Given the description of an element on the screen output the (x, y) to click on. 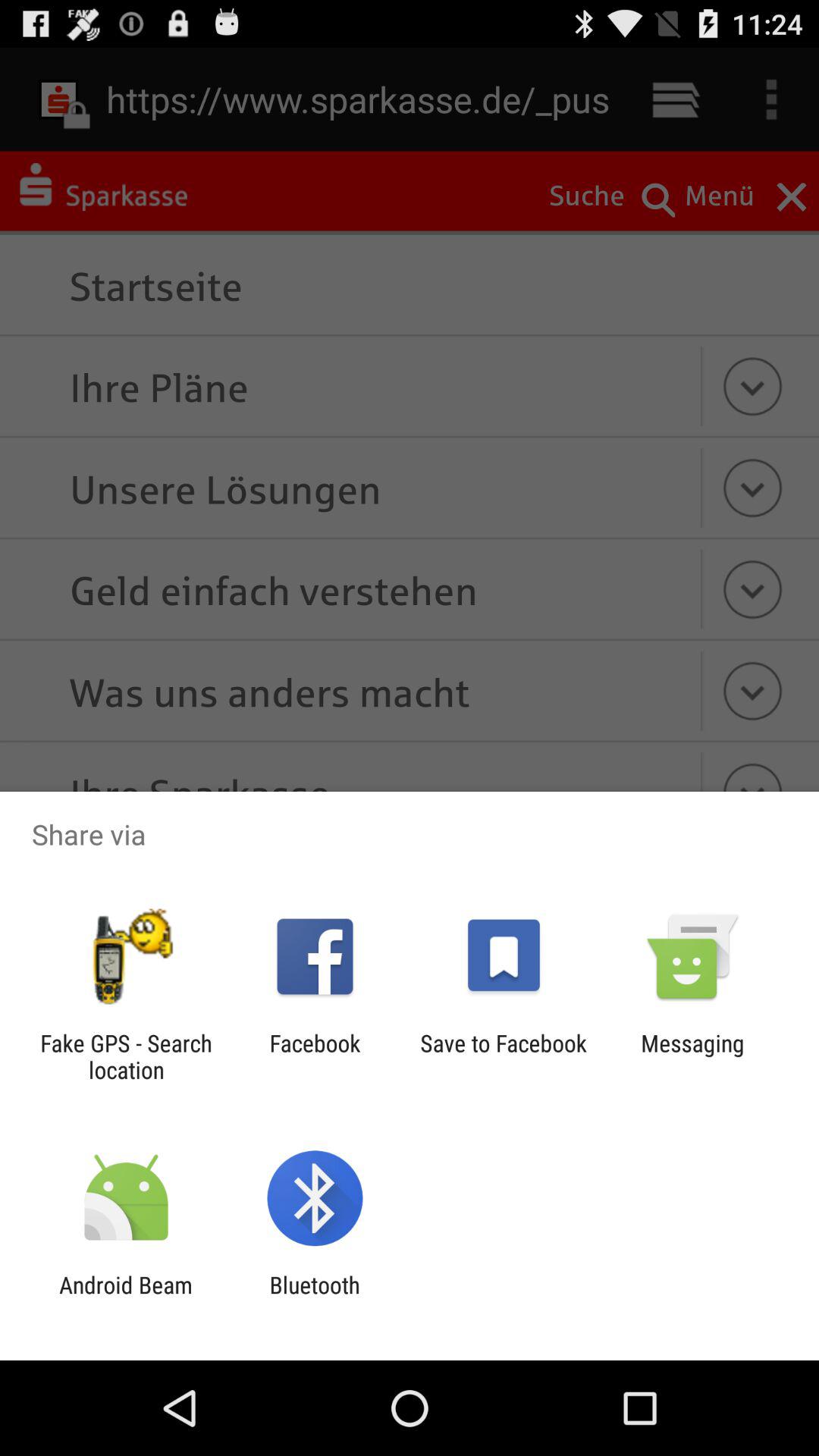
jump until android beam item (125, 1298)
